Given the description of an element on the screen output the (x, y) to click on. 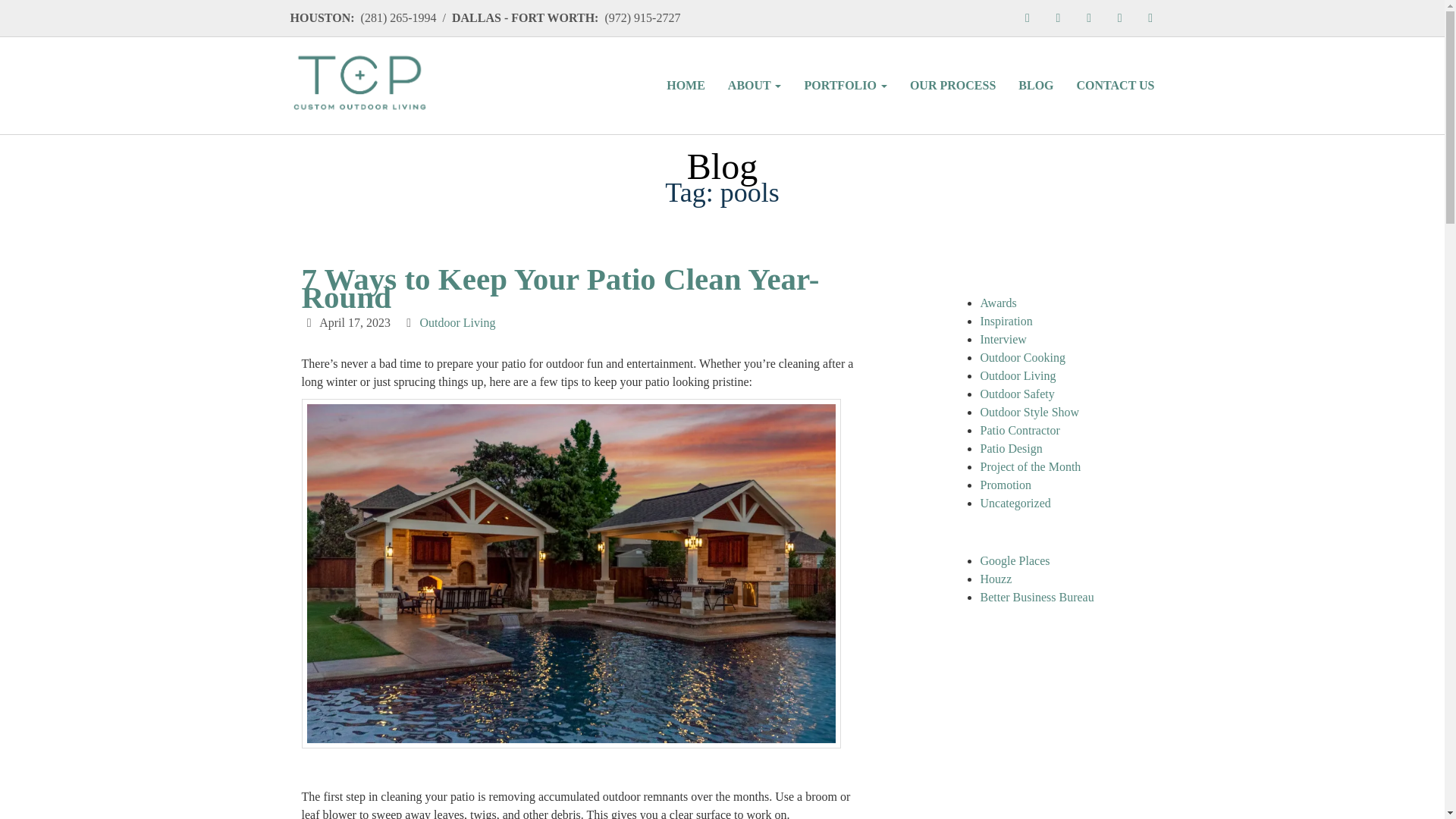
OUR PROCESS (952, 85)
7 Ways to Keep Your Patio Clean Year-Round (560, 287)
Outdoor Living (458, 322)
PORTFOLIO (845, 85)
CONTACT US (1115, 85)
Portfolio (845, 85)
